Given the description of an element on the screen output the (x, y) to click on. 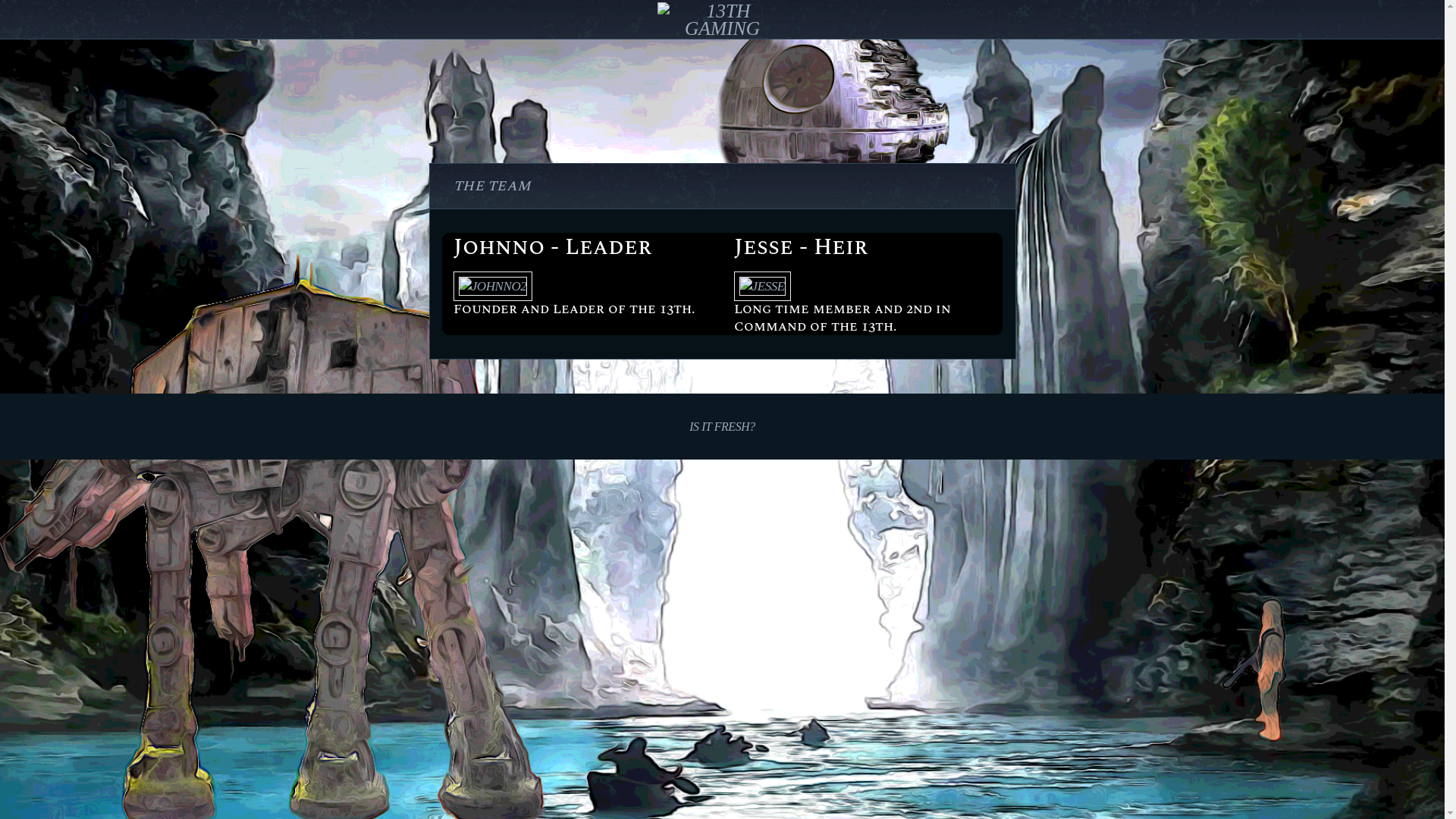
Johnno2 Element type: hover (492, 285)
Jesse Element type: hover (761, 285)
